Given the description of an element on the screen output the (x, y) to click on. 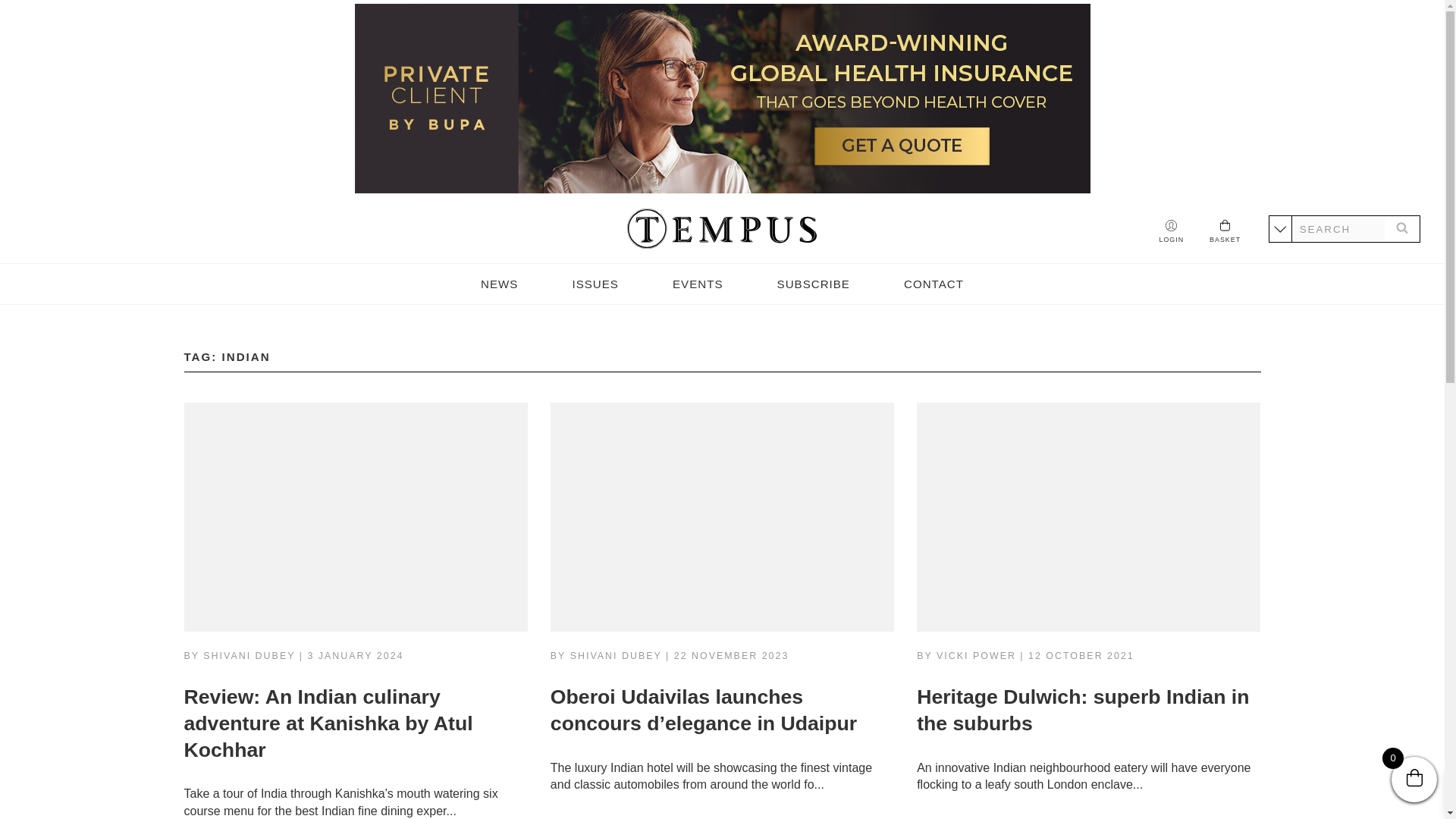
SUBSCRIBE (813, 283)
NEWS (499, 283)
LOGIN (1170, 232)
ISSUES (595, 283)
BASKET (1224, 231)
EVENTS (697, 283)
CONTACT (933, 283)
